Given the description of an element on the screen output the (x, y) to click on. 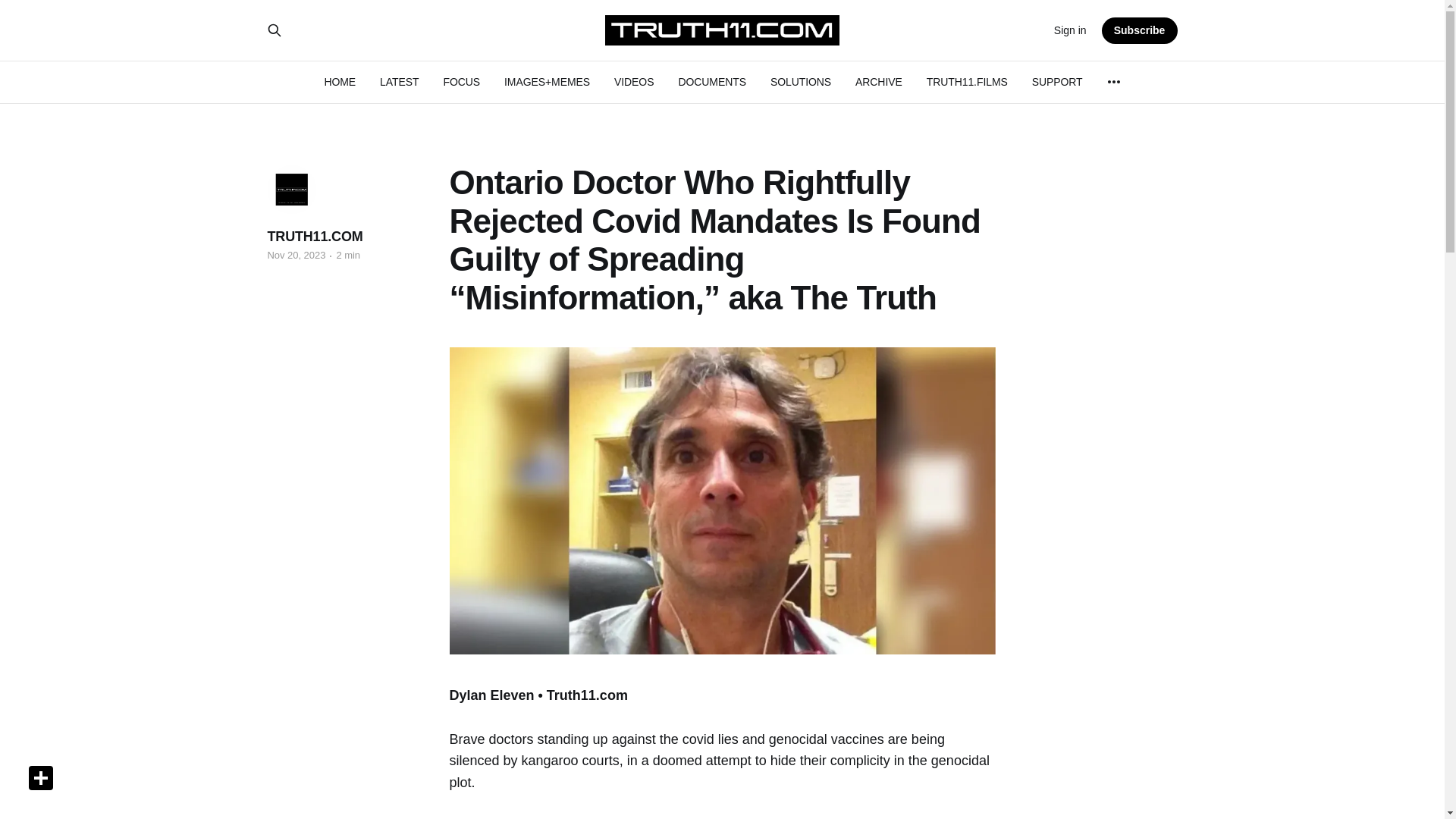
SUPPORT (1057, 81)
Sign in (1070, 30)
TRUTH11.COM (314, 236)
VIDEOS (633, 81)
HOME (339, 81)
SOLUTIONS (800, 81)
FOCUS (461, 81)
TRUTH11.FILMS (966, 81)
LATEST (399, 81)
DOCUMENTS (711, 81)
